Given the description of an element on the screen output the (x, y) to click on. 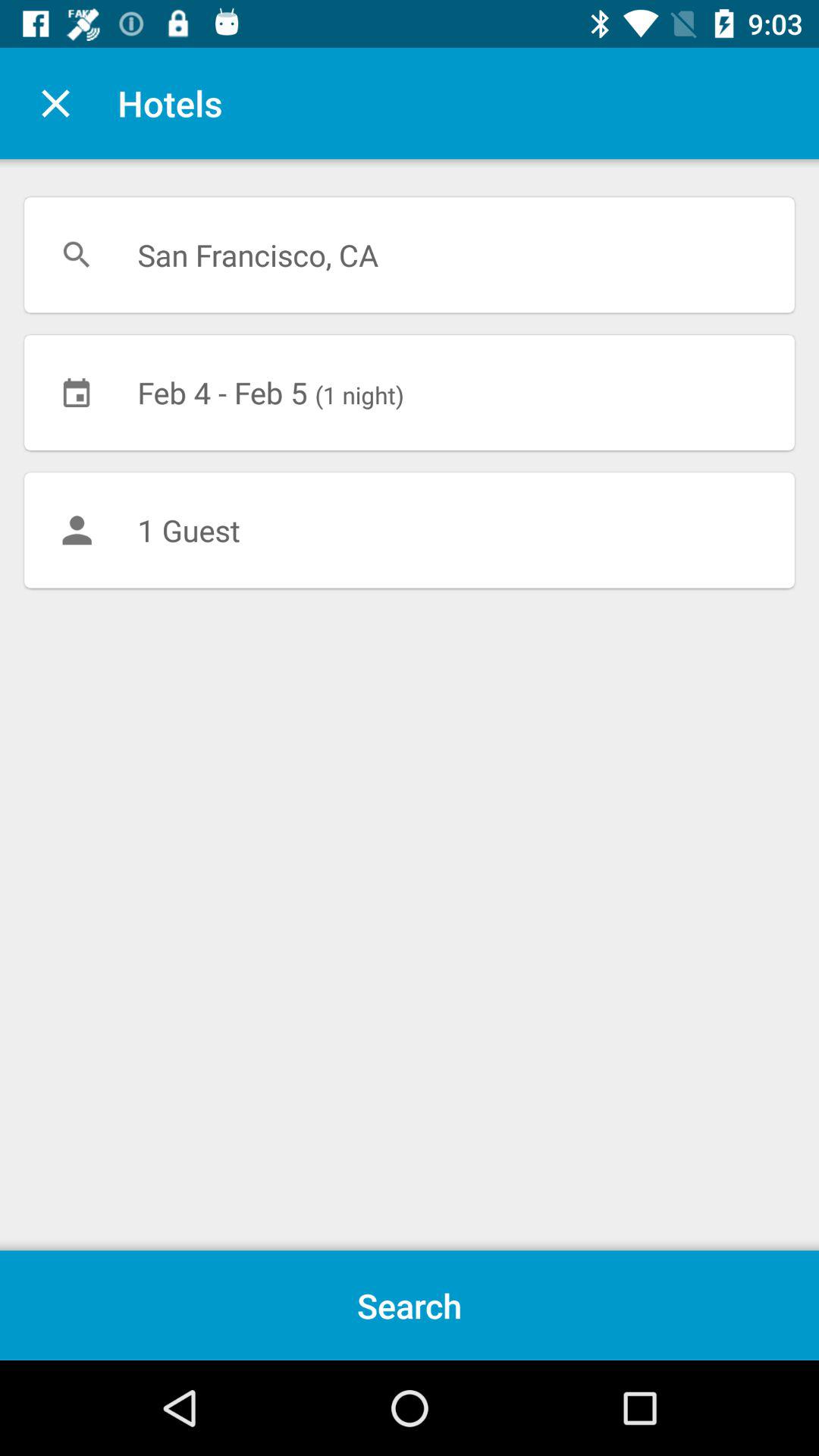
turn on item above the 1 guest (409, 392)
